Given the description of an element on the screen output the (x, y) to click on. 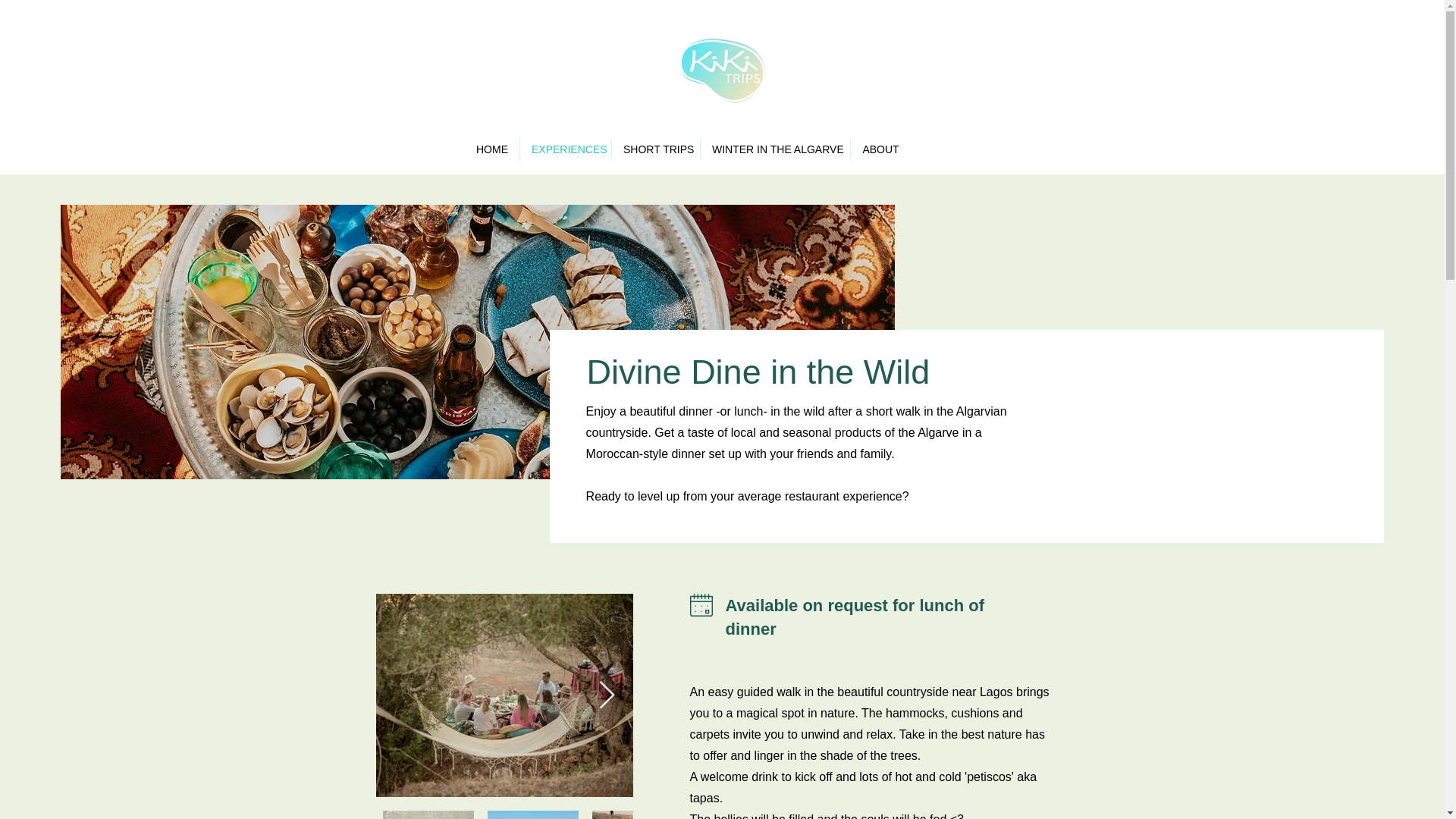
ABOUT (880, 149)
WINTER IN THE ALGARVE (775, 149)
SHORT TRIPS (655, 149)
EXPERIENCES (565, 149)
HOME (491, 149)
